Given the description of an element on the screen output the (x, y) to click on. 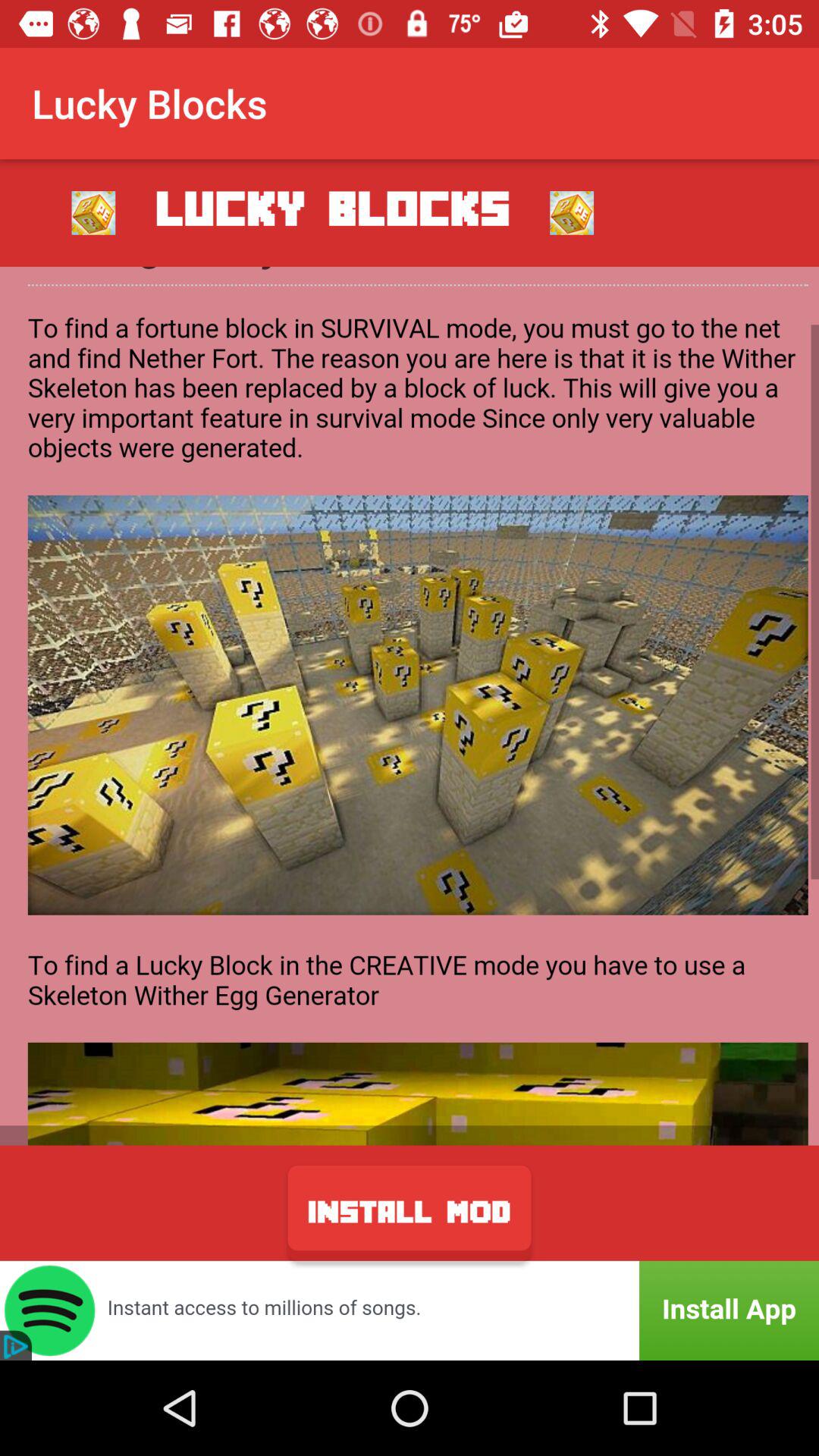
go to install app (409, 1310)
